Given the description of an element on the screen output the (x, y) to click on. 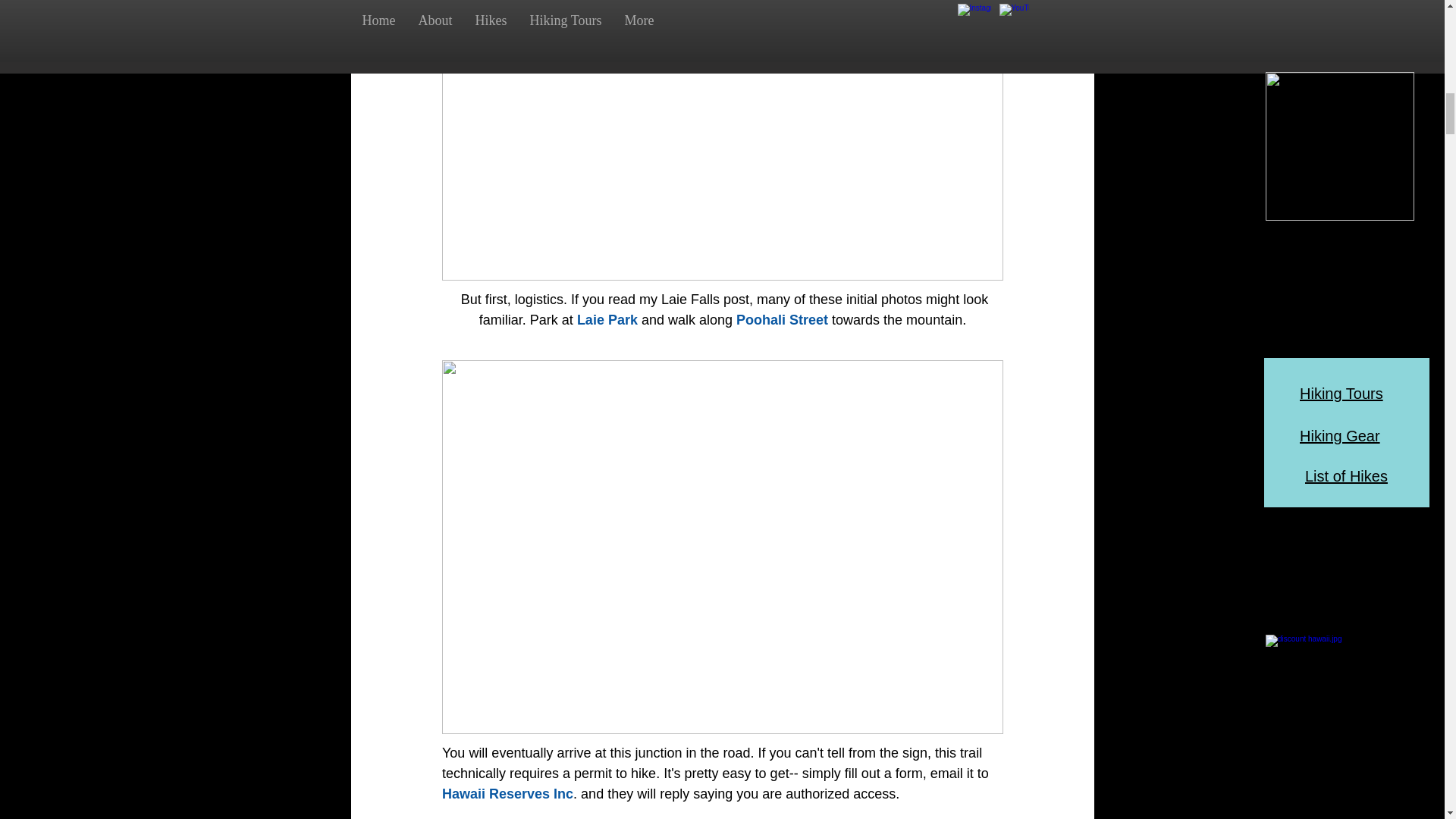
Hawaii Reserves Inc (506, 793)
Poohali Street (782, 319)
Laie Park (606, 319)
